Given the description of an element on the screen output the (x, y) to click on. 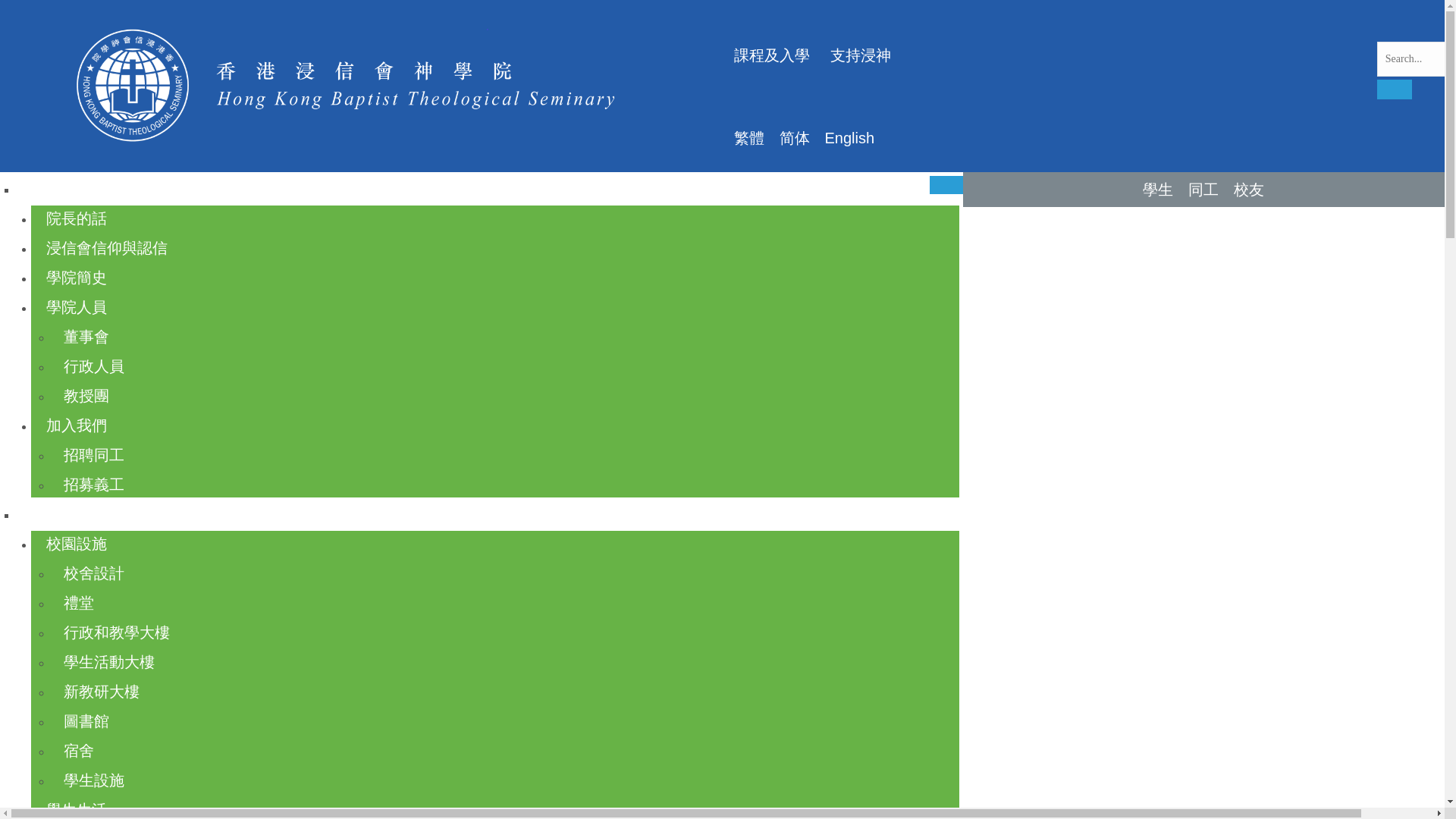
2-1 (361, 85)
